Given the description of an element on the screen output the (x, y) to click on. 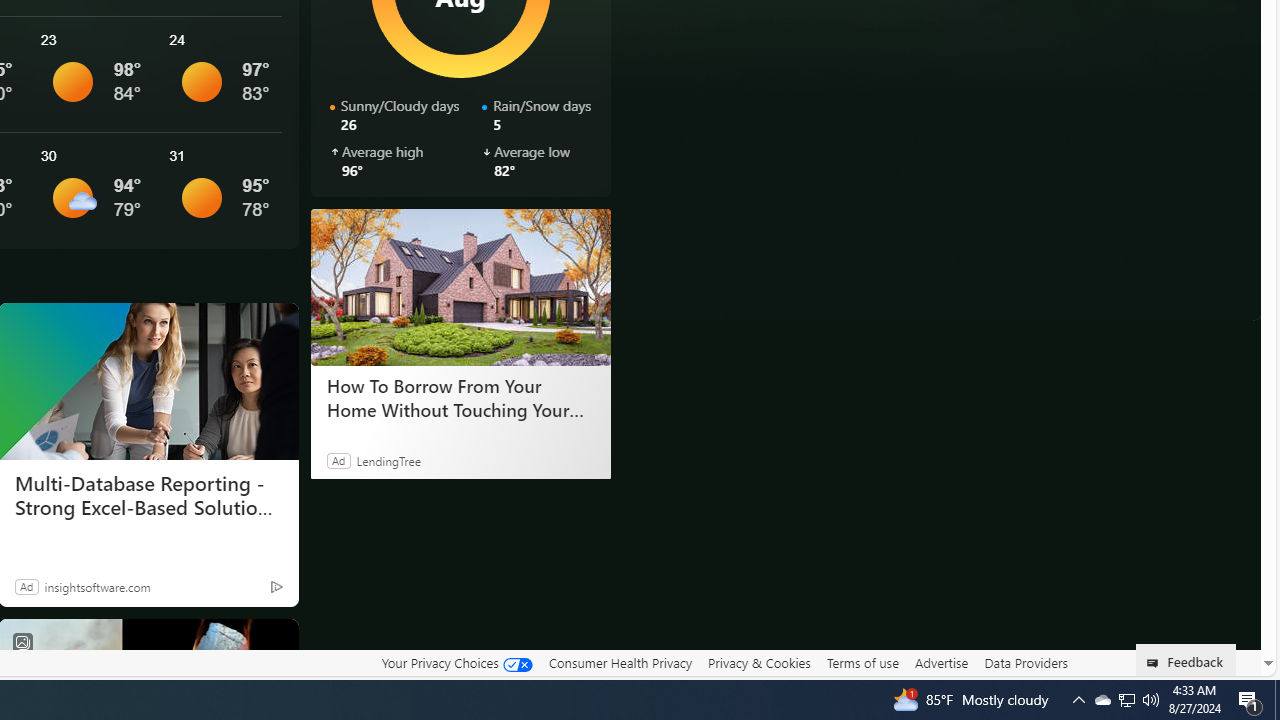
Terms of use (861, 662)
